Given the description of an element on the screen output the (x, y) to click on. 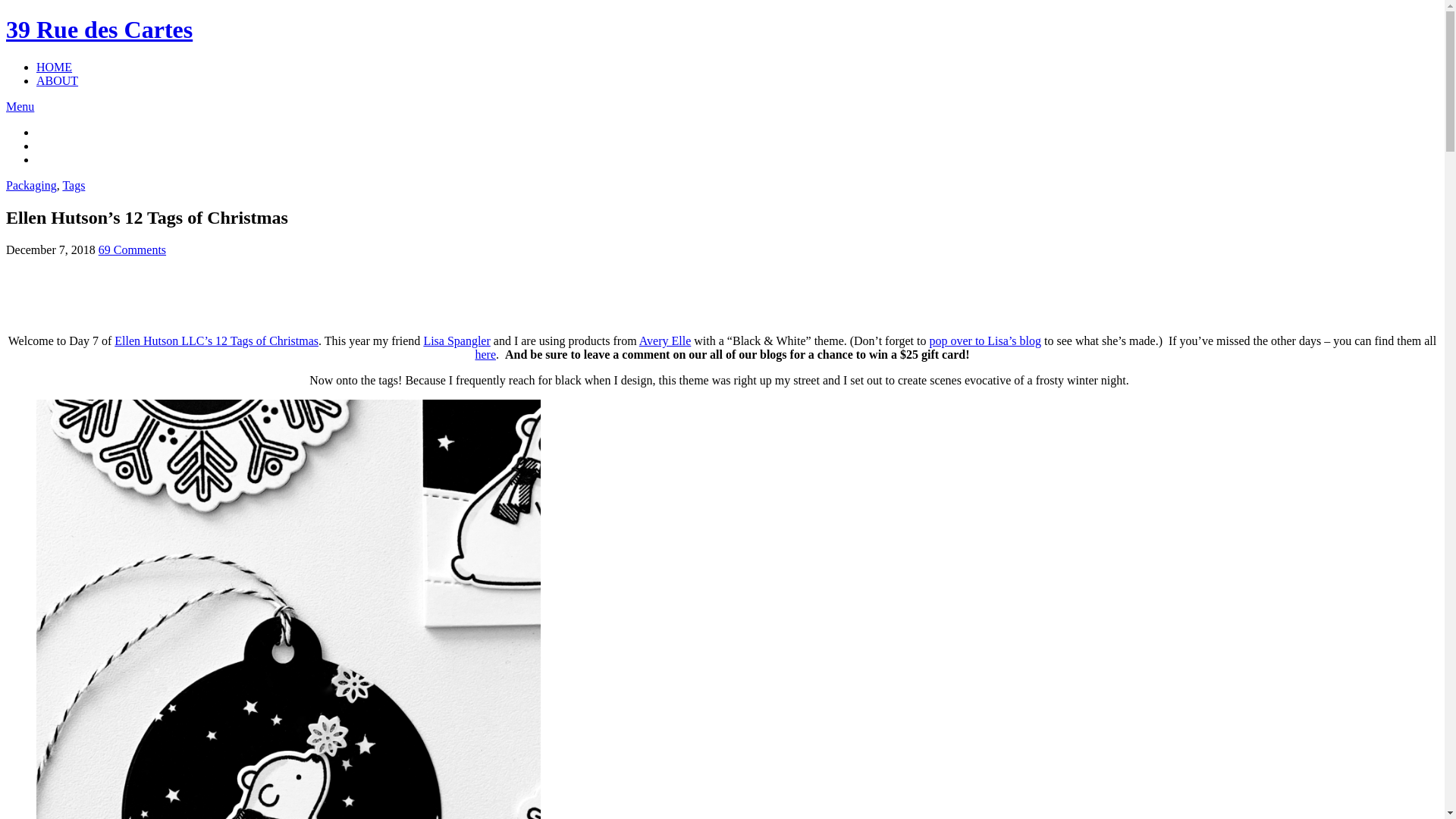
Tags Element type: text (73, 184)
Packaging Element type: text (31, 184)
Lisa Spangler Element type: text (456, 340)
39 Rue des Cartes Element type: text (99, 29)
HOME Element type: text (54, 66)
ABOUT Element type: text (57, 80)
here Element type: text (484, 354)
69 Comments Element type: text (132, 249)
Menu Element type: text (20, 106)
Avery Elle Element type: text (665, 340)
